Given the description of an element on the screen output the (x, y) to click on. 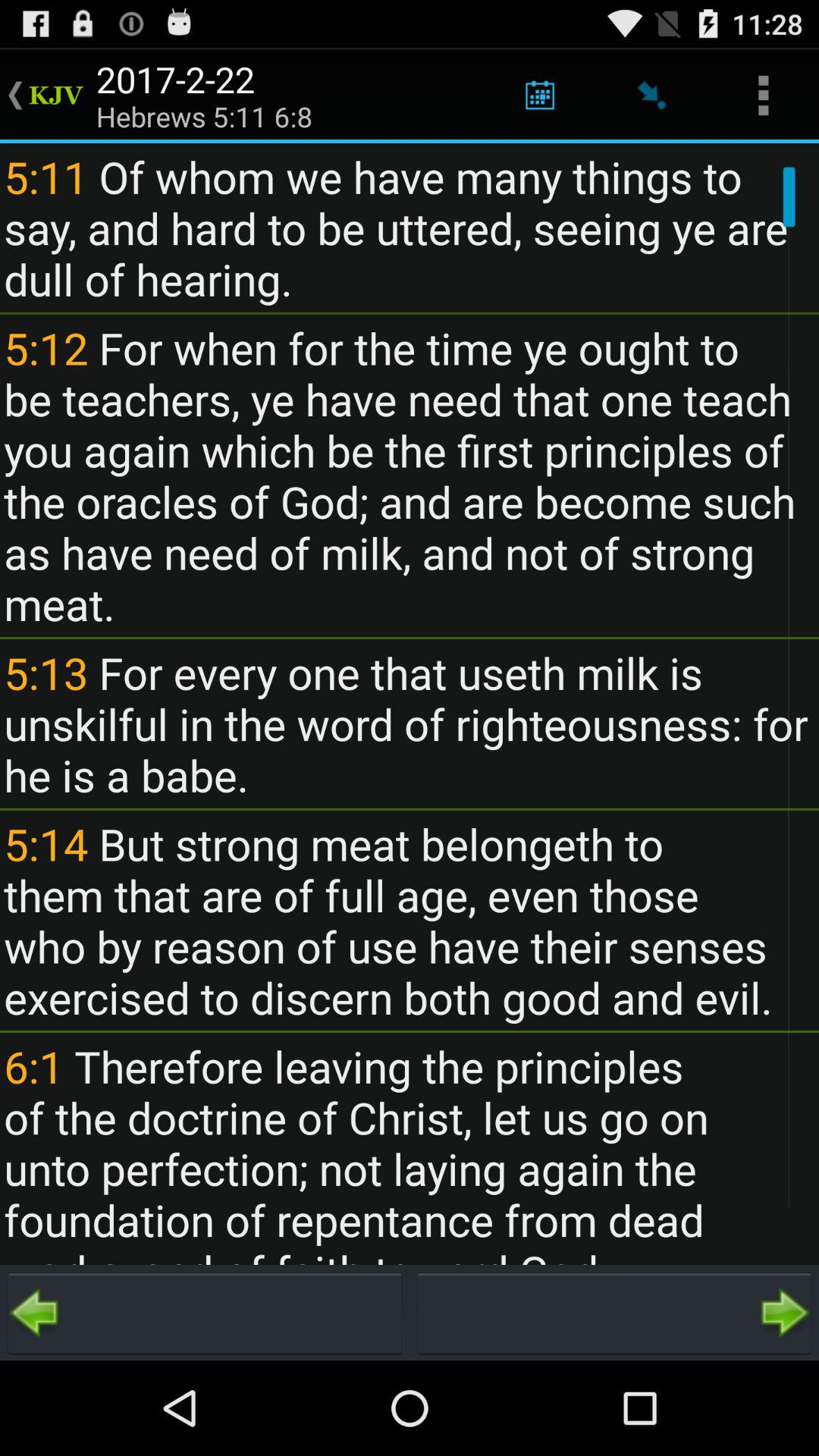
go to previous (204, 1312)
